Given the description of an element on the screen output the (x, y) to click on. 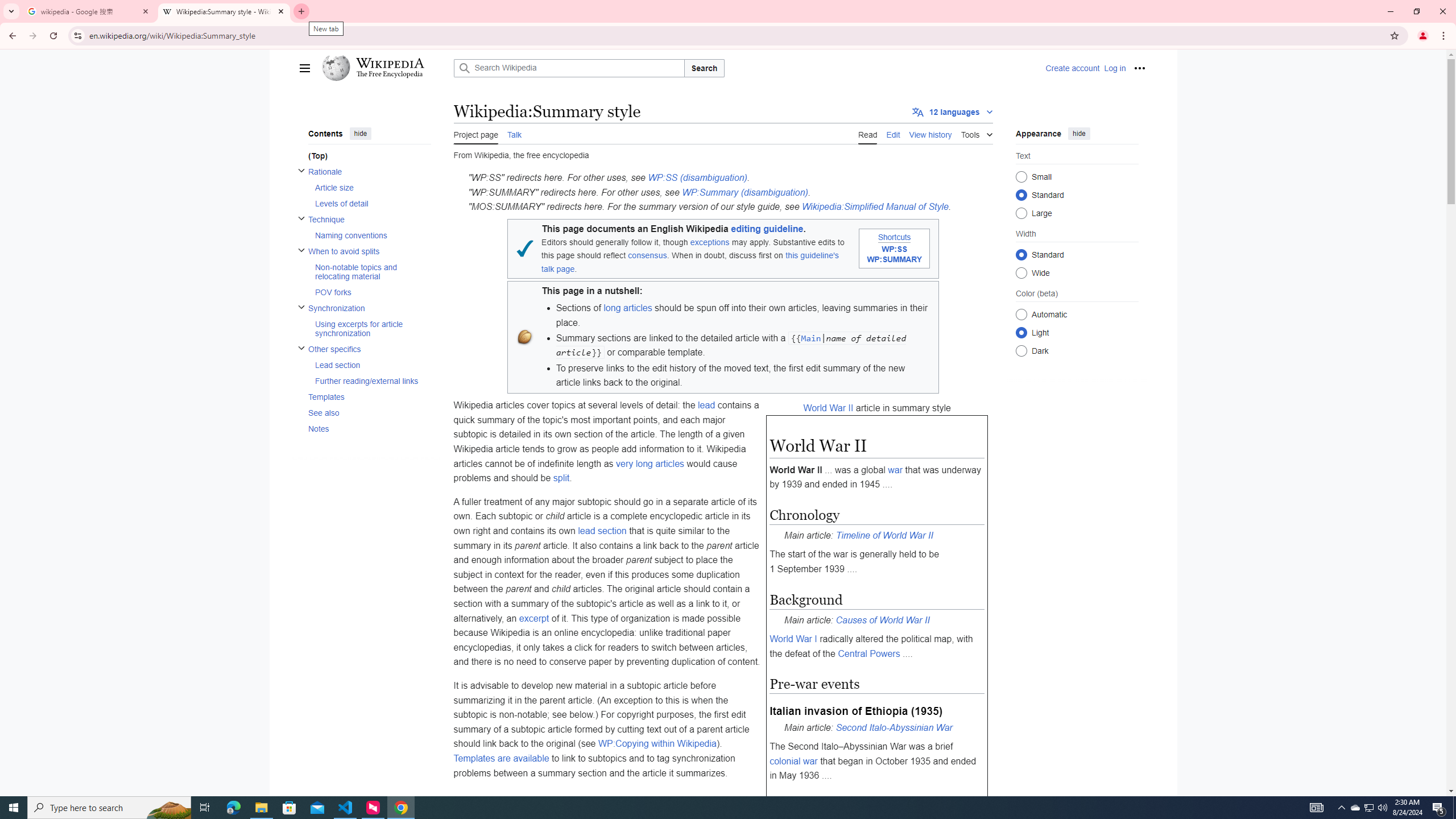
Edit (892, 133)
Wikipedia:Simplified Manual of Style (875, 207)
Wide (1020, 272)
Using excerpts for article synchronization (372, 328)
AutomationID: toc-Notes (365, 428)
long articles (627, 307)
AutomationID: toc-Synchronization (365, 320)
AutomationID: ca-history (930, 133)
consensus (647, 255)
exceptions (709, 242)
AutomationID: toc-When_to_avoid_splits (365, 271)
Second Italo-Abyssinian War (893, 727)
AutomationID: toc-mw-content-text (365, 155)
